Given the description of an element on the screen output the (x, y) to click on. 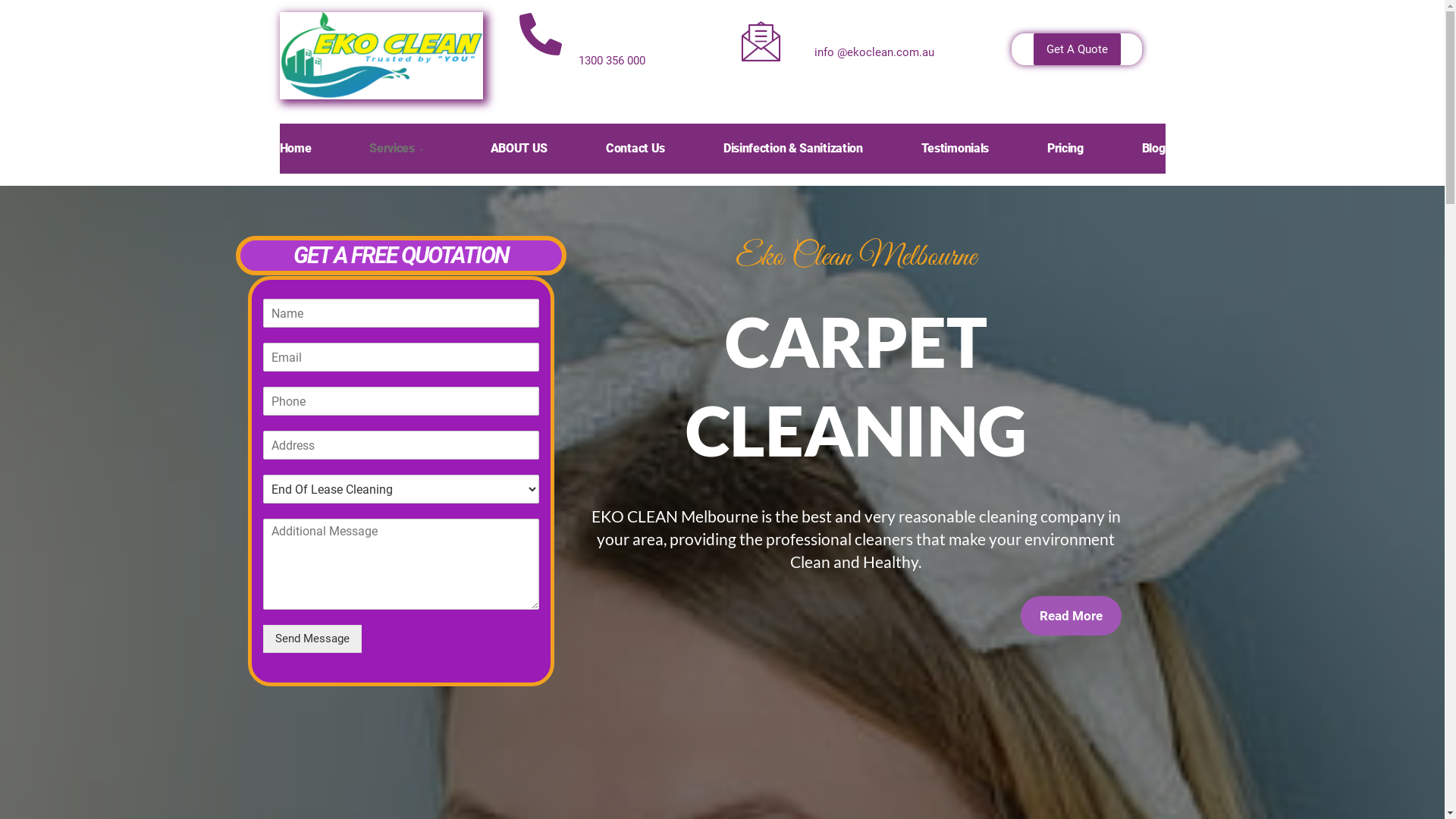
Services Element type: text (400, 148)
Disinfection & Sanitization Element type: text (792, 148)
Read More Element type: text (1070, 615)
Get A Quote Element type: text (1076, 49)
Testimonials Element type: text (954, 148)
Contact Us Element type: text (635, 148)
Pricing Element type: text (1065, 148)
Send Message Element type: text (311, 638)
ABOUT US Element type: text (519, 148)
Blog Element type: text (1153, 148)
Home Element type: text (294, 148)
